Given the description of an element on the screen output the (x, y) to click on. 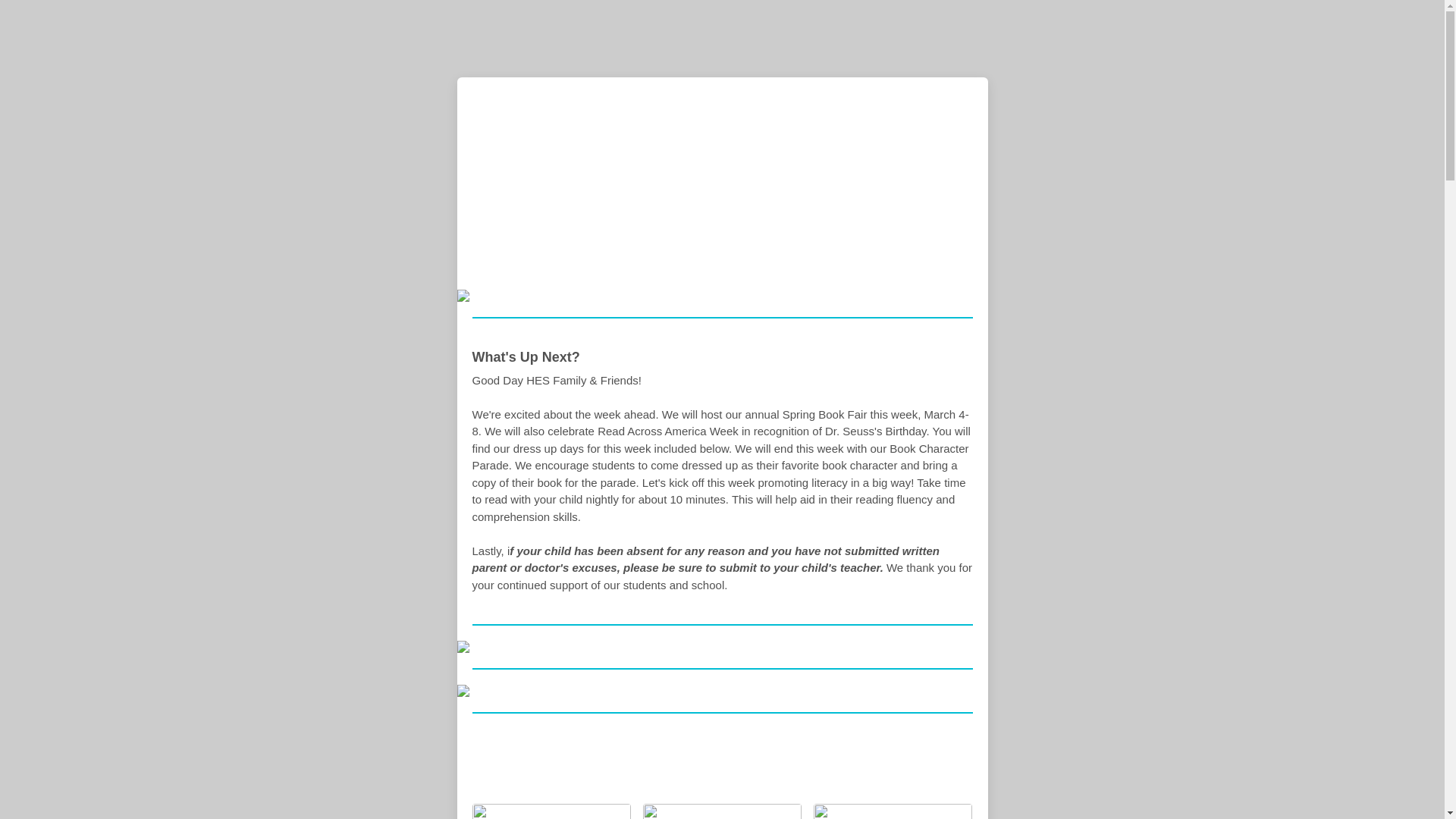
Last (722, 182)
Reveiw (639, 761)
A (560, 761)
Weeks' (516, 761)
Activities: (695, 761)
of (775, 761)
Photo (605, 761)
Gallery (848, 761)
